Given the description of an element on the screen output the (x, y) to click on. 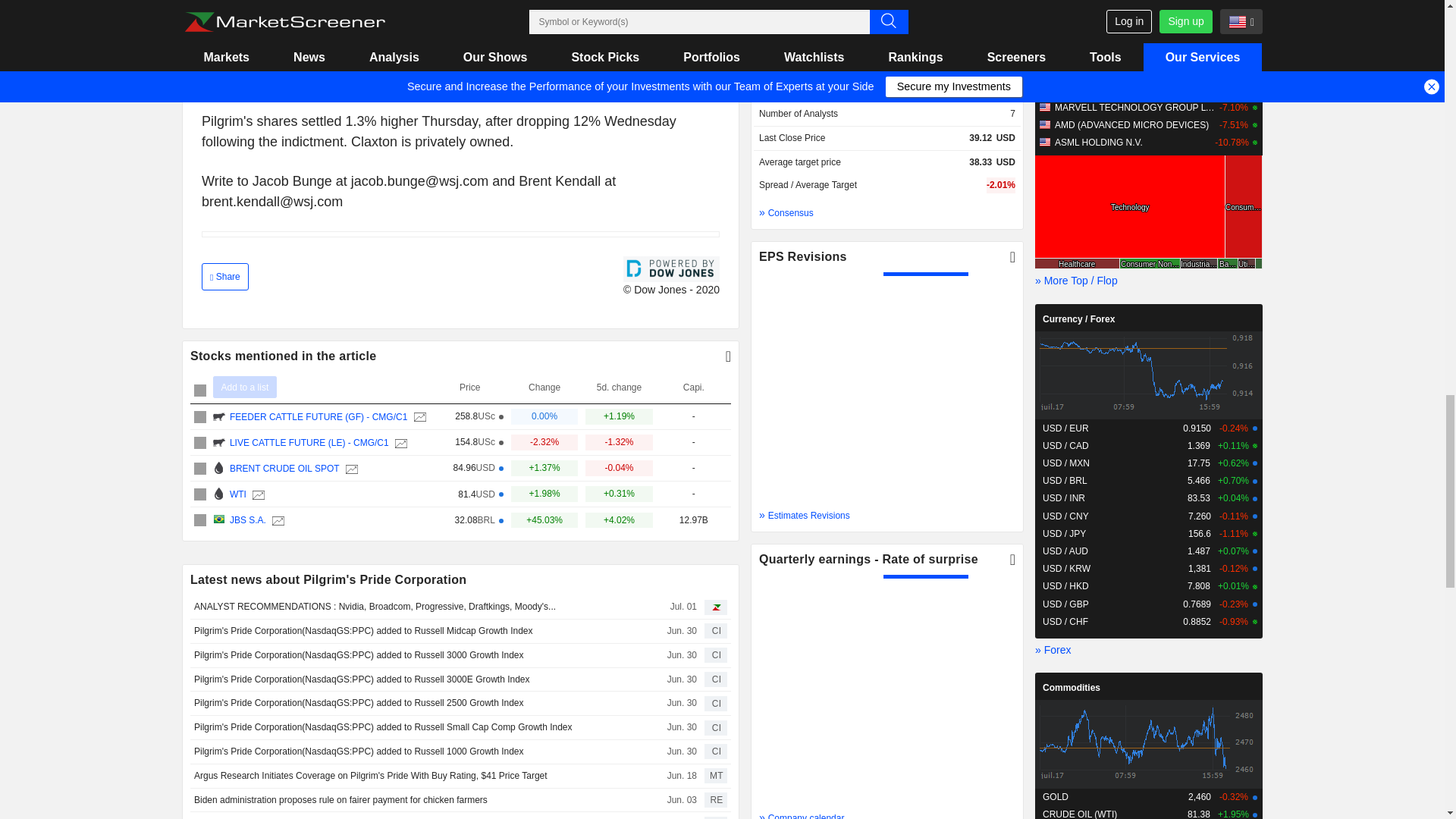
on (199, 468)
on (199, 390)
on (199, 417)
on (199, 520)
on (199, 442)
on (199, 494)
